Given the description of an element on the screen output the (x, y) to click on. 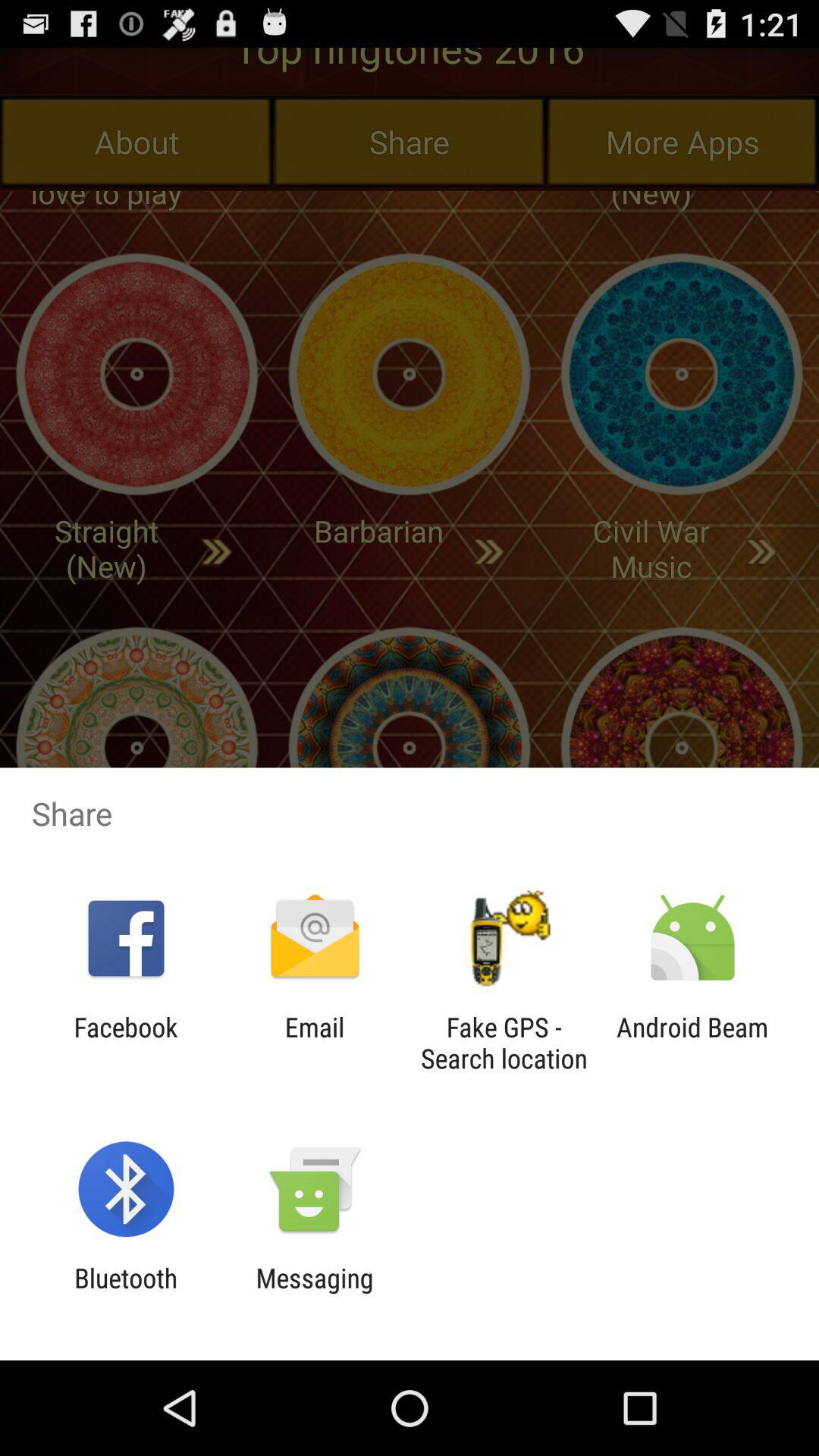
launch the icon to the right of the fake gps search item (692, 1042)
